Given the description of an element on the screen output the (x, y) to click on. 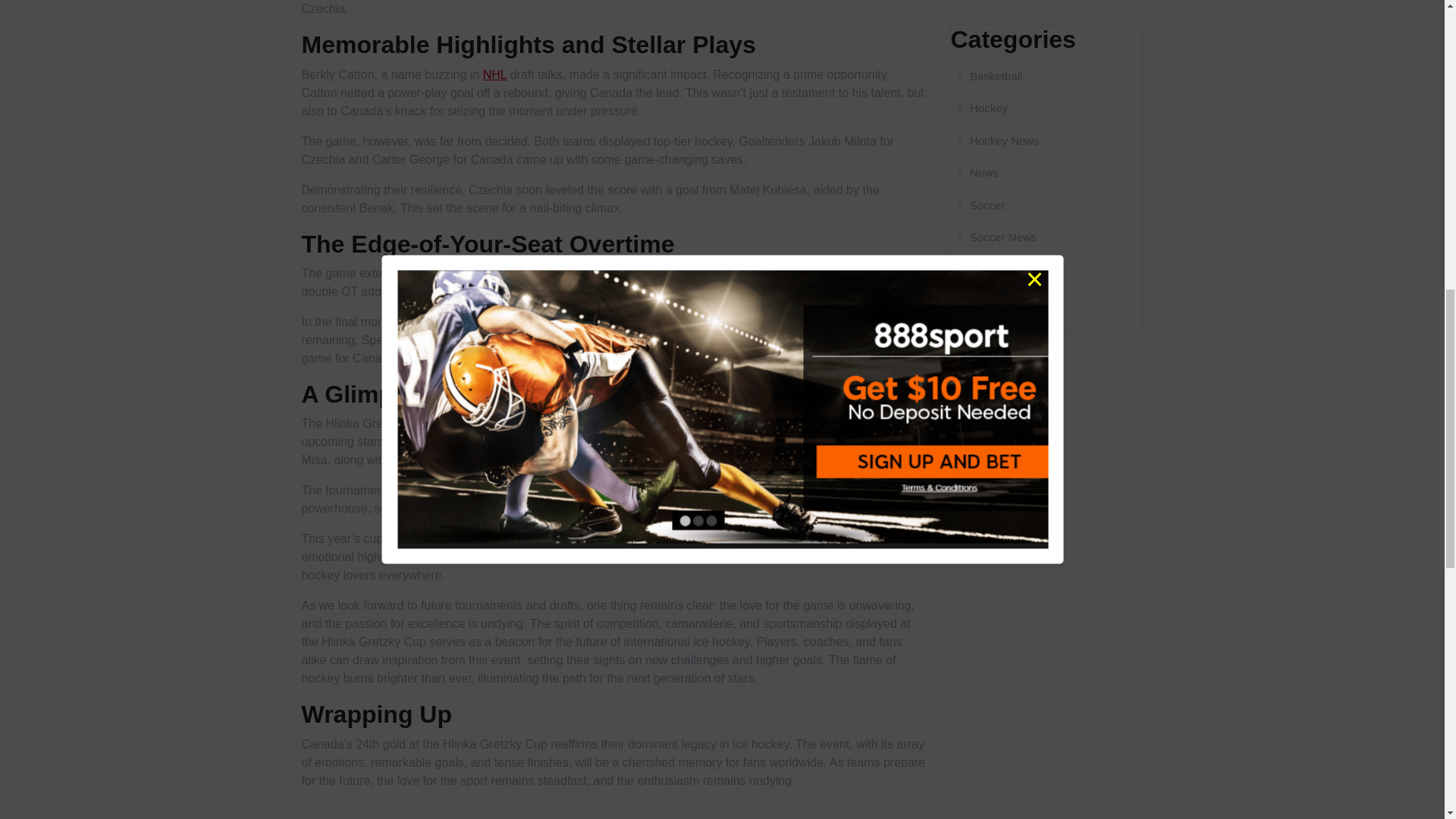
Hockey News (998, 139)
Hockey (983, 107)
Basketball (990, 75)
NHL (494, 74)
